Given the description of an element on the screen output the (x, y) to click on. 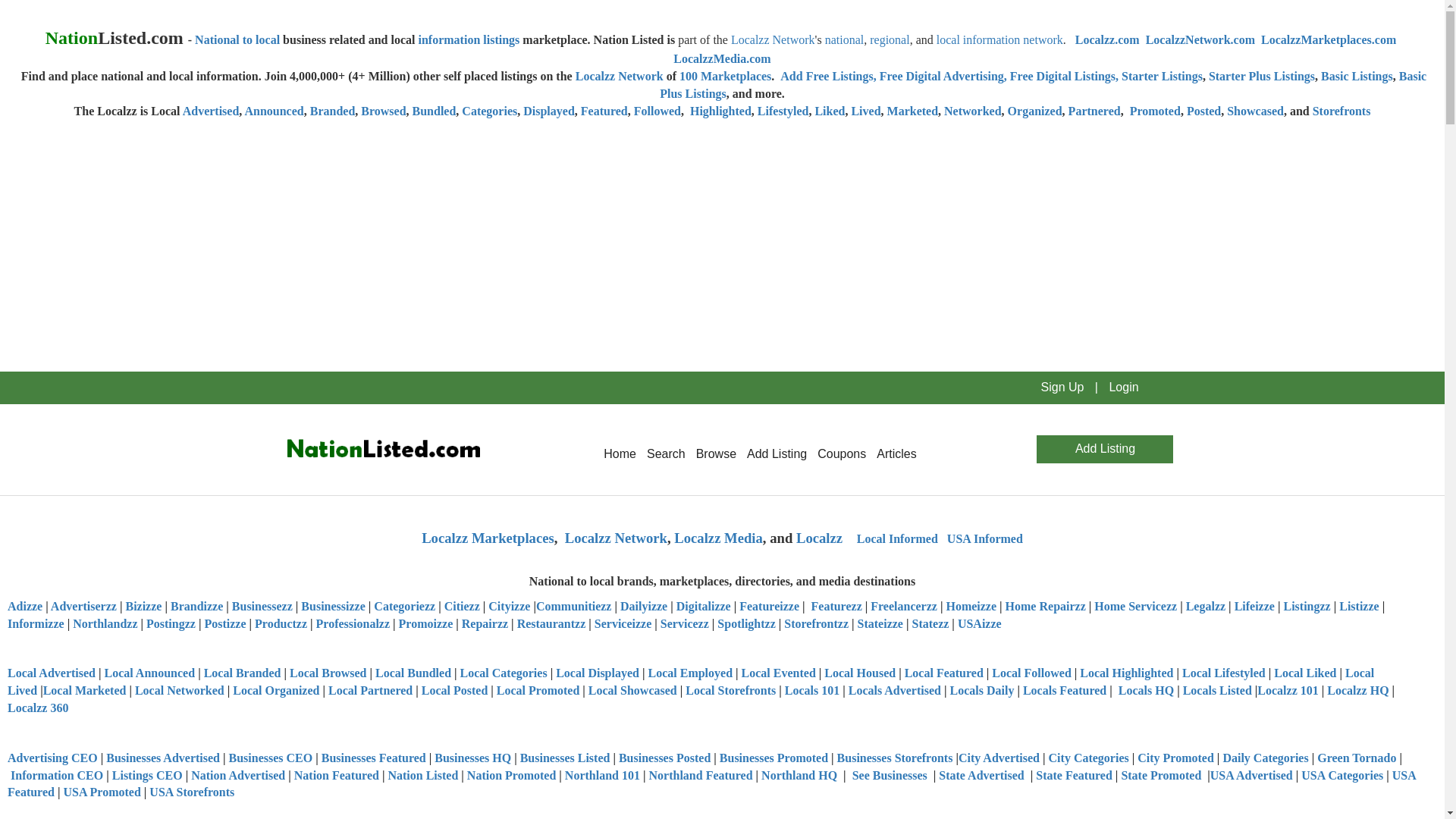
Networked (972, 110)
NationListed.com (381, 449)
Promoted (1154, 110)
Basic Plus Listings (1042, 84)
Starter Listings (1161, 75)
LocalzzMarketplaces.com (1328, 39)
national (844, 39)
National to local (237, 39)
100 Marketplaces (725, 75)
